Given the description of an element on the screen output the (x, y) to click on. 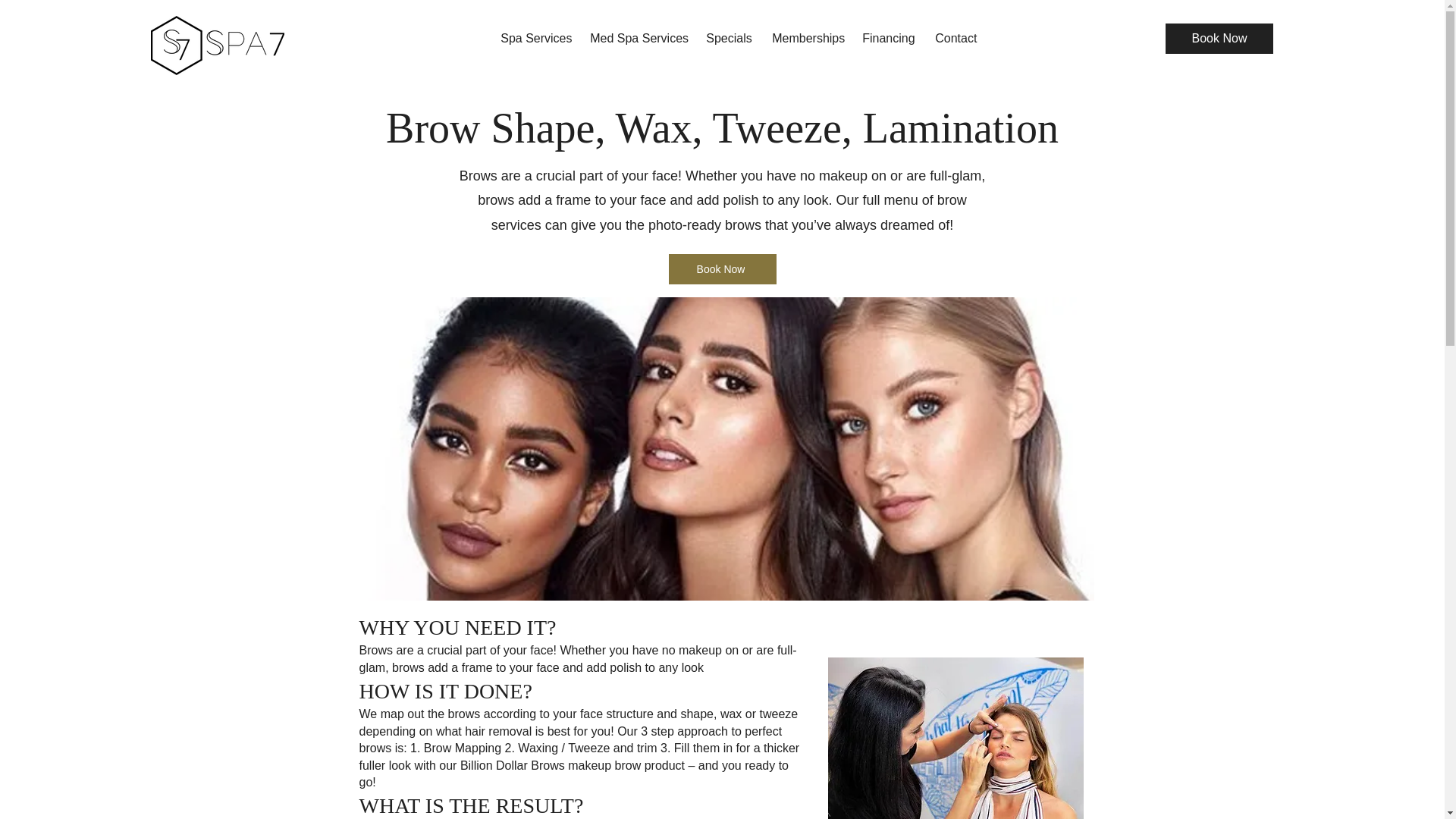
Memberships (805, 38)
Book Now (722, 268)
Specials (727, 38)
Contact (955, 38)
Financing (886, 38)
Book Now (1219, 38)
